Given the description of an element on the screen output the (x, y) to click on. 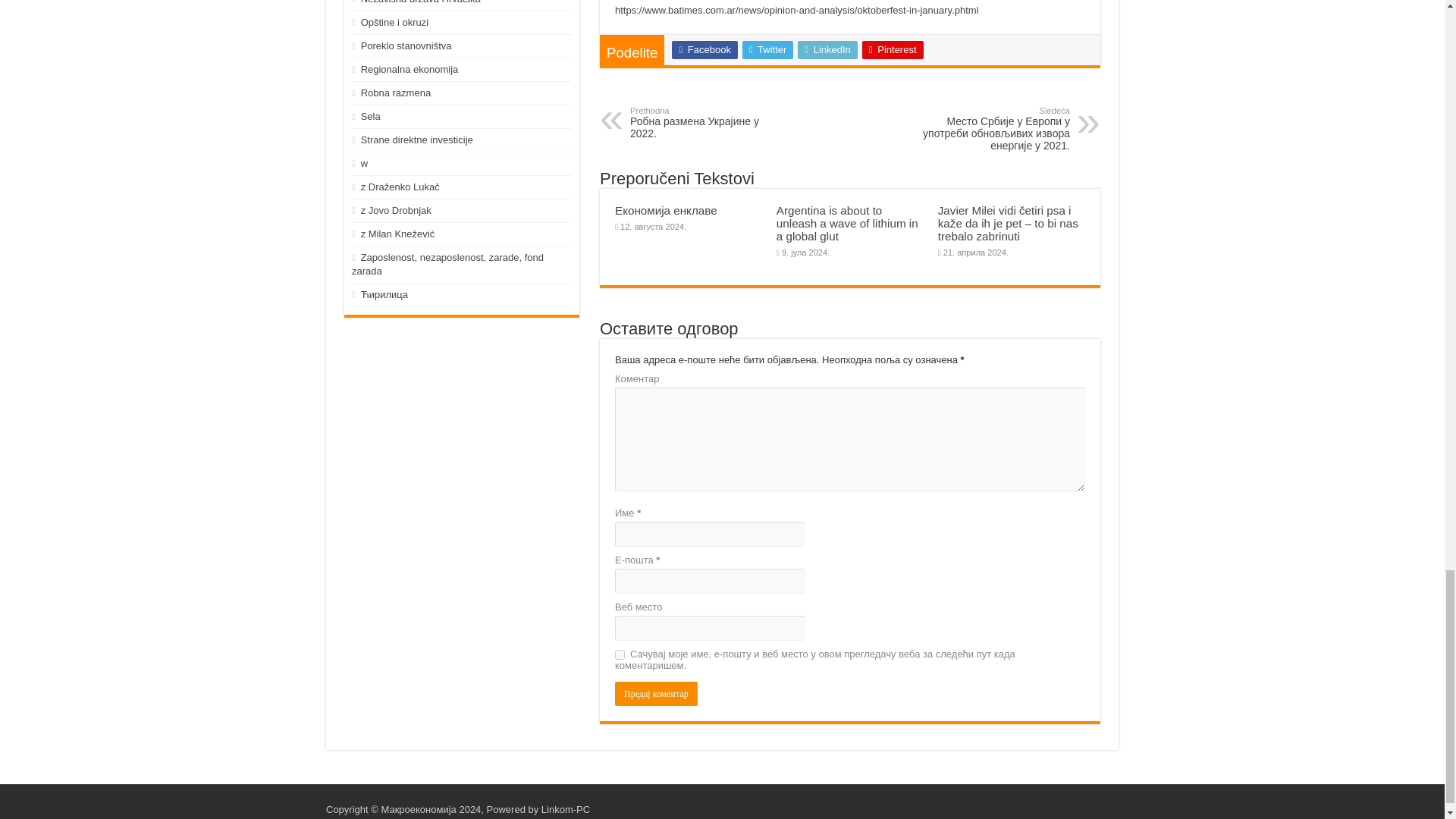
Facebook (703, 49)
Twitter (767, 49)
Pinterest (892, 49)
yes (619, 655)
LinkedIn (827, 49)
